Given the description of an element on the screen output the (x, y) to click on. 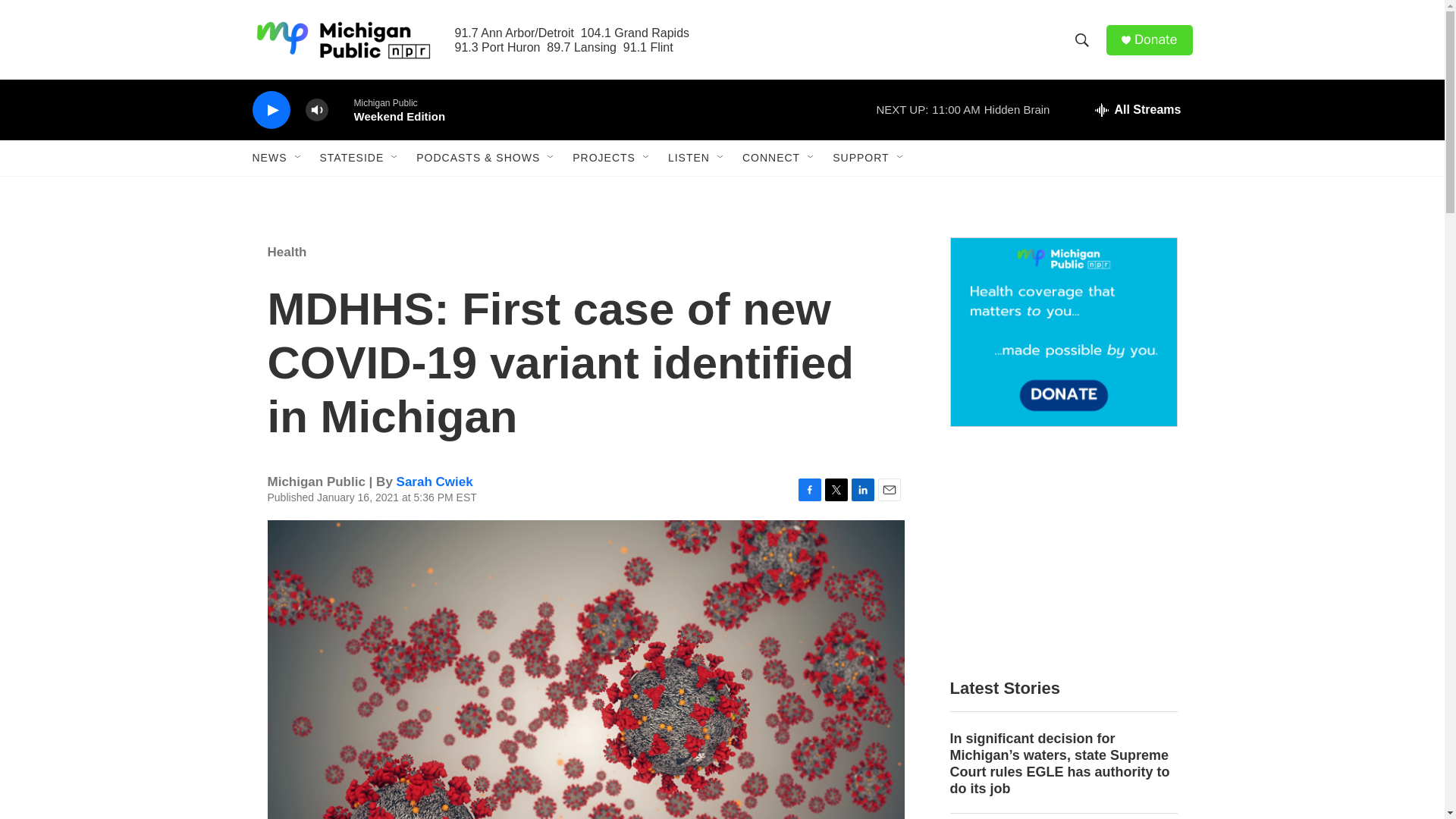
3rd party ad content (1062, 552)
